Given the description of an element on the screen output the (x, y) to click on. 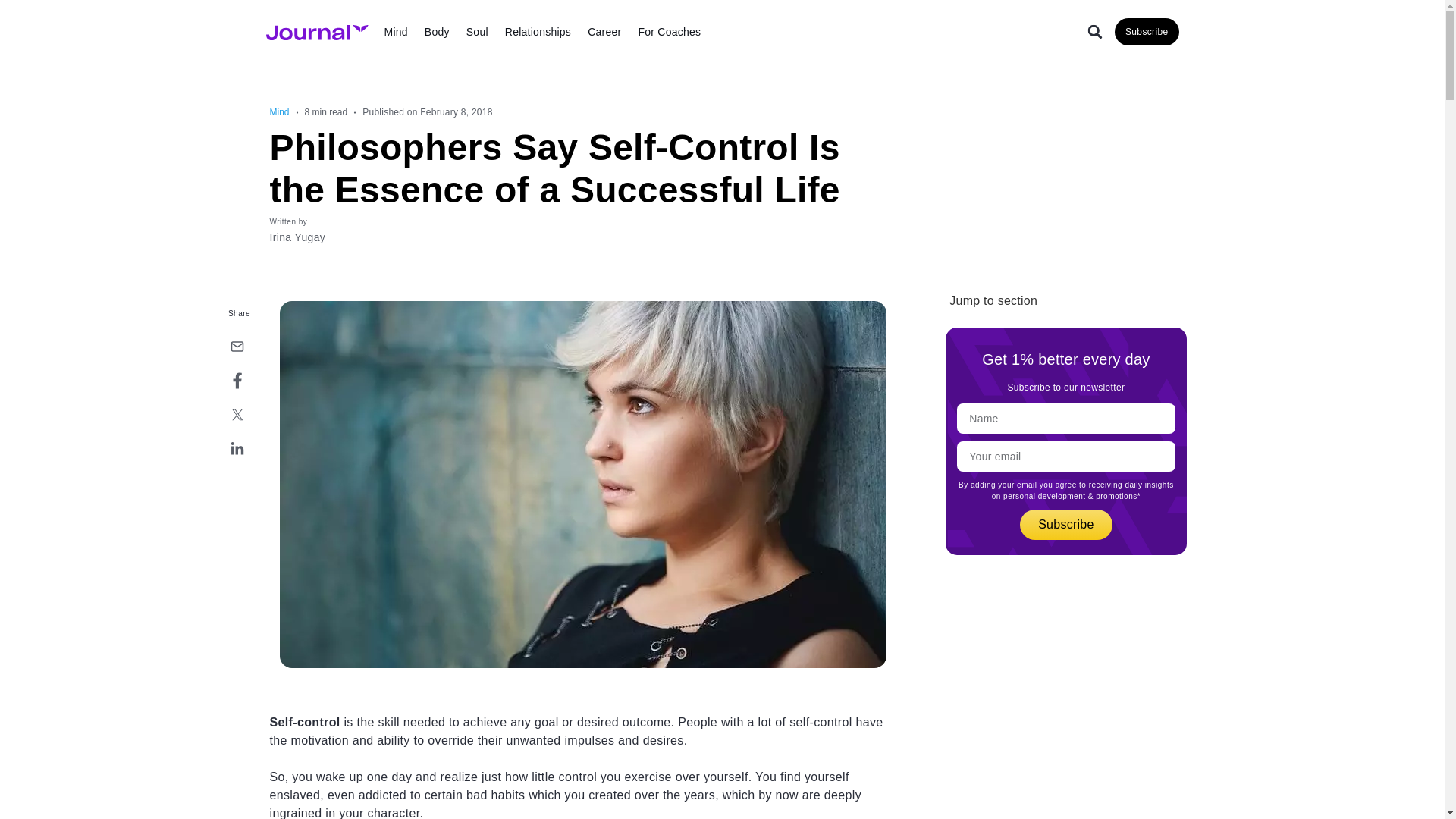
Body (437, 31)
Mind (395, 31)
Career (603, 31)
Relationships (537, 31)
For Coaches (668, 31)
Soul (477, 31)
